Given the description of an element on the screen output the (x, y) to click on. 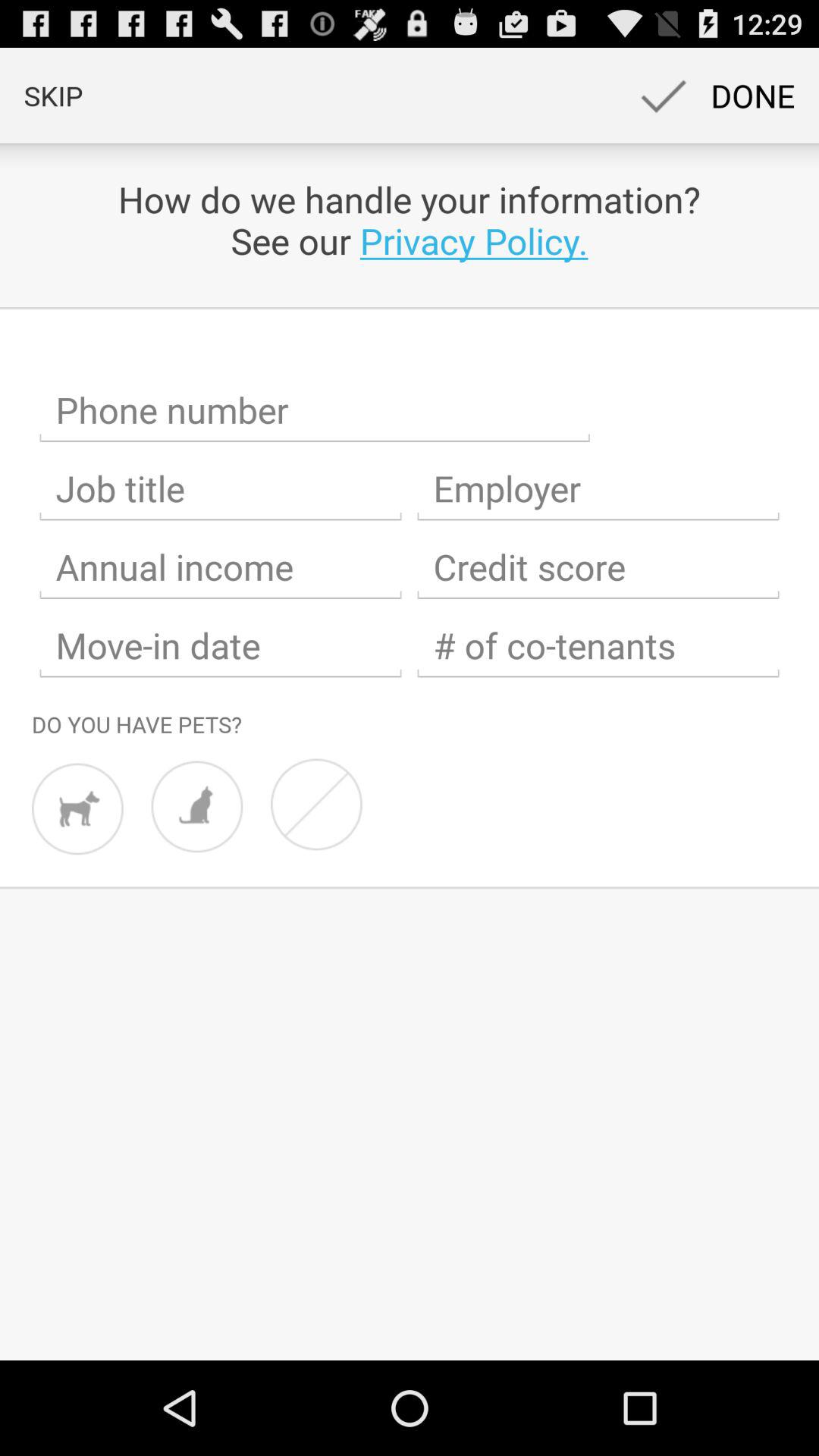
press the app below skip app (409, 220)
